Given the description of an element on the screen output the (x, y) to click on. 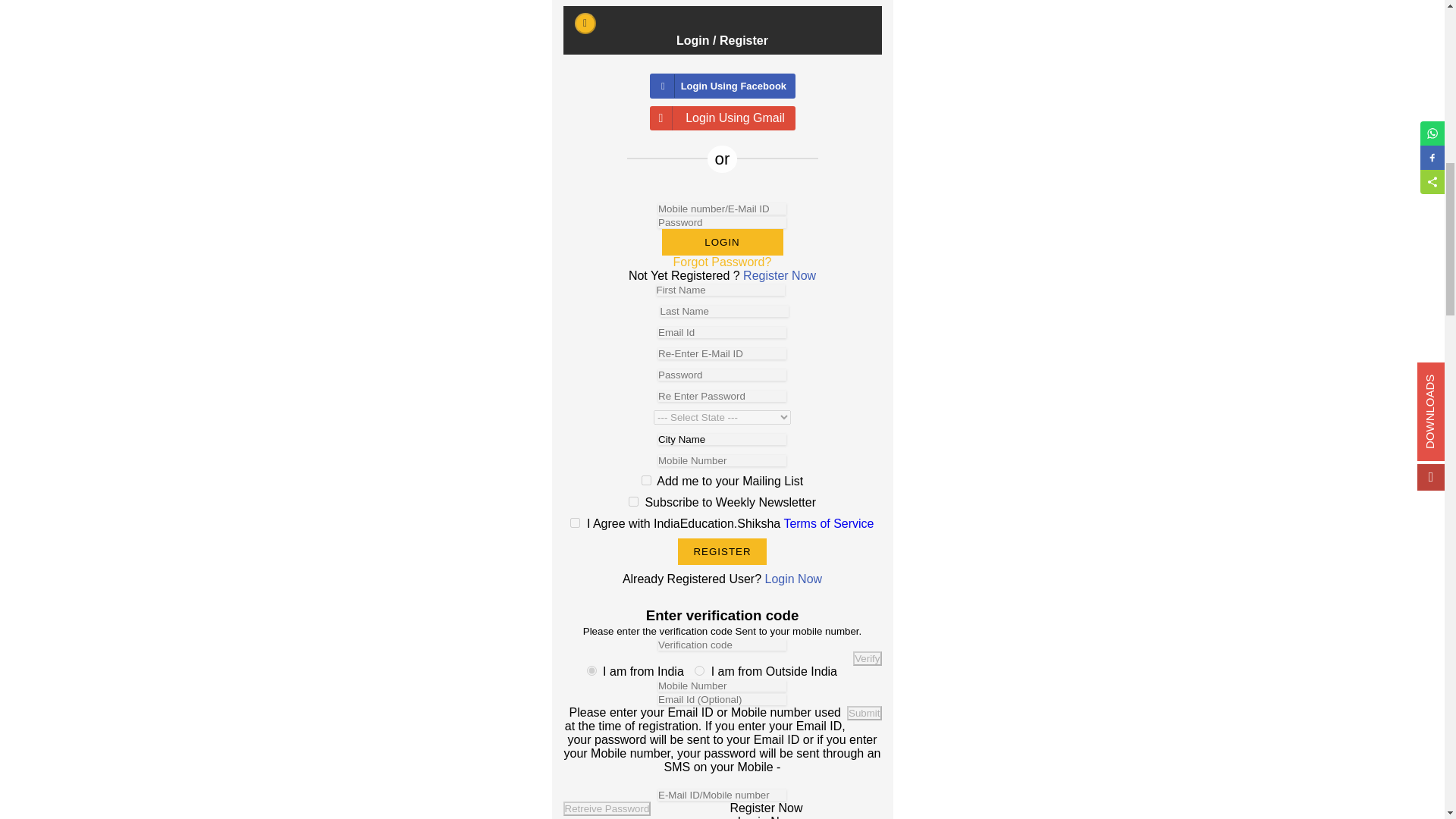
Click to Register (721, 551)
on (646, 480)
City Name (722, 439)
1 (699, 670)
on (633, 501)
Click to Login (722, 242)
0 (591, 670)
on (574, 522)
